Given the description of an element on the screen output the (x, y) to click on. 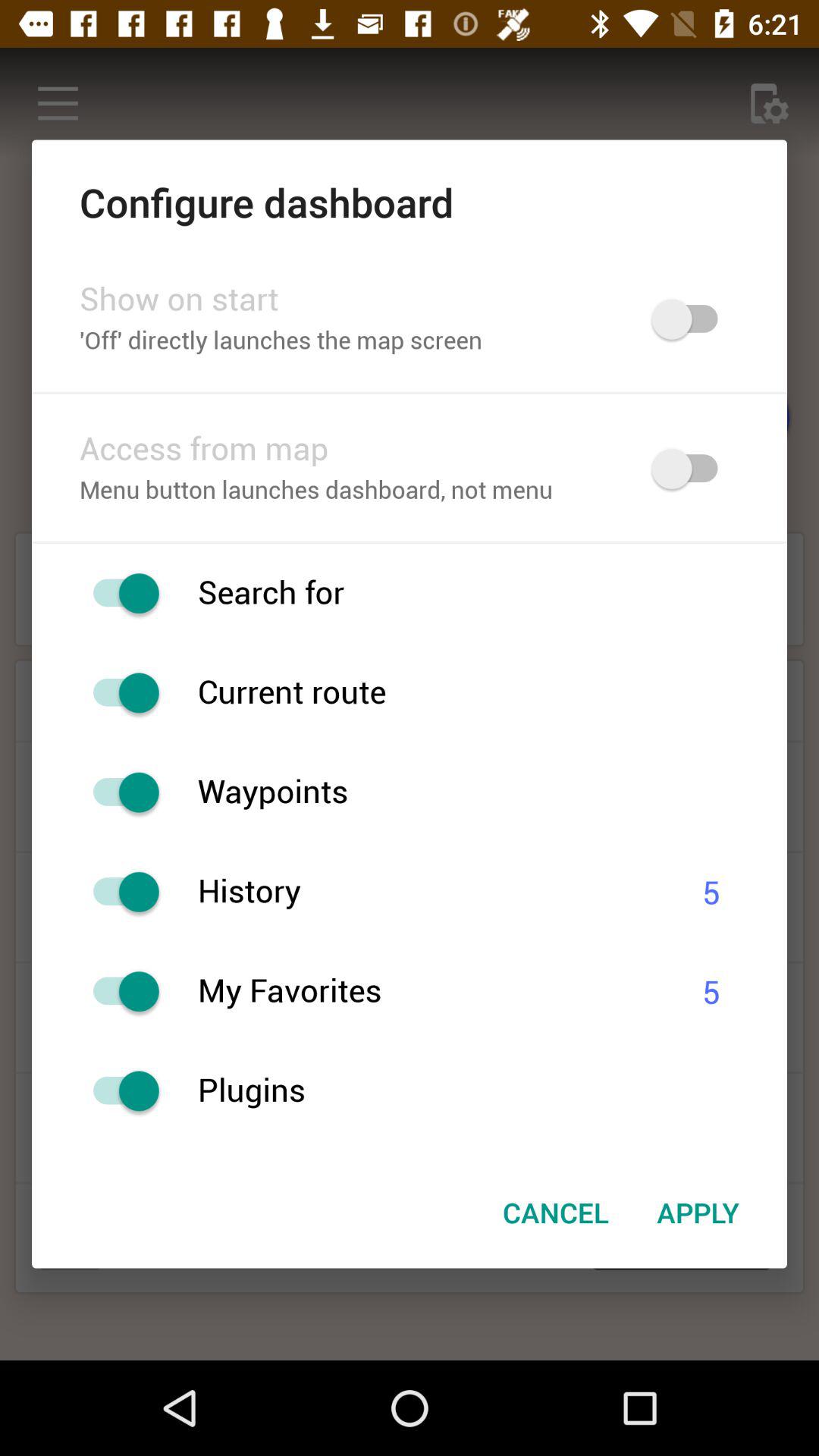
choose item below show on start item (346, 341)
